Given the description of an element on the screen output the (x, y) to click on. 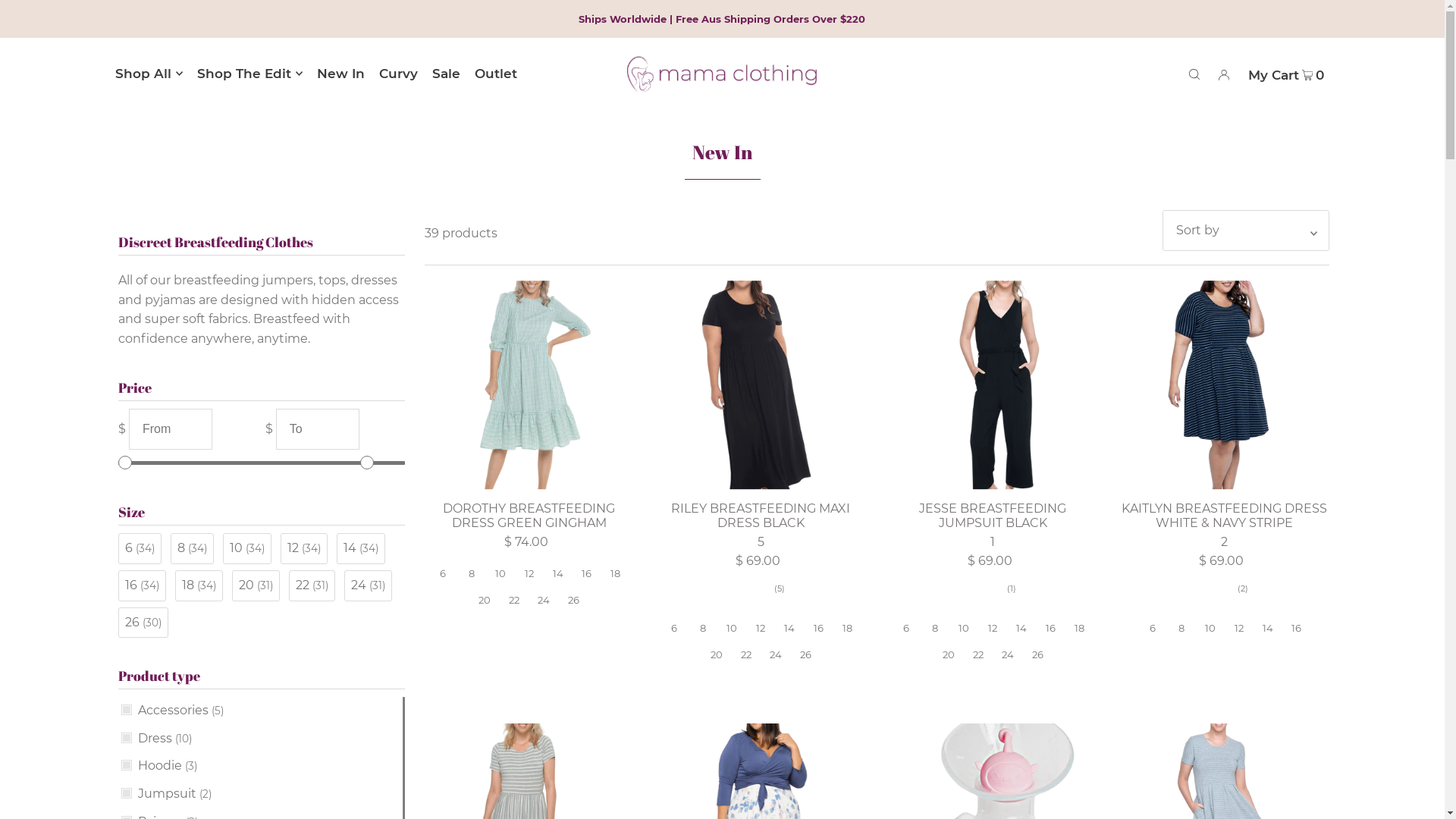
Shop The Edit Element type: text (249, 73)
6 (34) Element type: text (139, 548)
18 (34) Element type: text (198, 585)
6 Element type: text (1152, 628)
18 Element type: text (846, 628)
22 Element type: text (977, 655)
JESSE BREASTFEEDING JUMPSUIT BLACK Element type: text (992, 515)
6 Element type: text (442, 573)
10 Element type: text (1209, 628)
26 Element type: text (1037, 655)
12 (34) Element type: text (303, 548)
8 Element type: text (1181, 628)
20 Element type: text (948, 655)
KAITLYN BREASTFEEDING DRESS WHITE & NAVY STRIPE Element type: text (1224, 515)
10 Element type: text (963, 628)
16 Element type: text (1296, 628)
Hoodie (3) Element type: text (159, 766)
12 Element type: text (992, 628)
24 Element type: text (1007, 655)
22 Element type: text (513, 600)
DOROTHY BREASTFEEDING DRESS GREEN GINGHAM Element type: text (528, 515)
26 Element type: text (573, 600)
Outlet Element type: text (495, 73)
RILEY BREASTFEEDING MAXI DRESS BLACK Element type: hover (761, 384)
RILEY BREASTFEEDING MAXI DRESS BLACK Element type: text (761, 515)
18 Element type: text (1078, 628)
DOROTHY BREASTFEEDING DRESS GREEN GINGHAM Element type: hover (528, 384)
Accessories (5) Element type: text (172, 710)
20 Element type: text (484, 600)
22 (31) Element type: text (311, 585)
6 Element type: text (905, 628)
10 Element type: text (500, 573)
JESSE BREASTFEEDING JUMPSUIT BLACK Element type: hover (992, 384)
16 Element type: text (1049, 628)
26 Element type: text (805, 655)
Shop All Element type: text (148, 73)
Sale Element type: text (446, 73)
14 Element type: text (557, 573)
14 (34) Element type: text (360, 548)
8 Element type: text (702, 628)
Curvy Element type: text (398, 73)
New In Element type: text (340, 73)
Jumpsuit (2) Element type: text (166, 793)
20 (31) Element type: text (255, 585)
24 (31) Element type: text (368, 585)
16 (34) Element type: text (142, 585)
12 Element type: text (529, 573)
16 Element type: text (817, 628)
12 Element type: text (760, 628)
18 Element type: text (615, 573)
10 (34) Element type: text (246, 548)
6 Element type: text (673, 628)
8 Element type: text (934, 628)
24 Element type: text (775, 655)
14 Element type: text (1021, 628)
24 Element type: text (543, 600)
16 Element type: text (586, 573)
8 (34) Element type: text (191, 548)
10 Element type: text (731, 628)
14 Element type: text (1267, 628)
14 Element type: text (789, 628)
20 Element type: text (716, 655)
KAITLYN BREASTFEEDING DRESS WHITE & NAVY STRIPE Element type: hover (1224, 384)
22 Element type: text (745, 655)
26 (30) Element type: text (143, 622)
8 Element type: text (471, 573)
12 Element type: text (1238, 628)
Dress (10) Element type: text (156, 738)
